Given the description of an element on the screen output the (x, y) to click on. 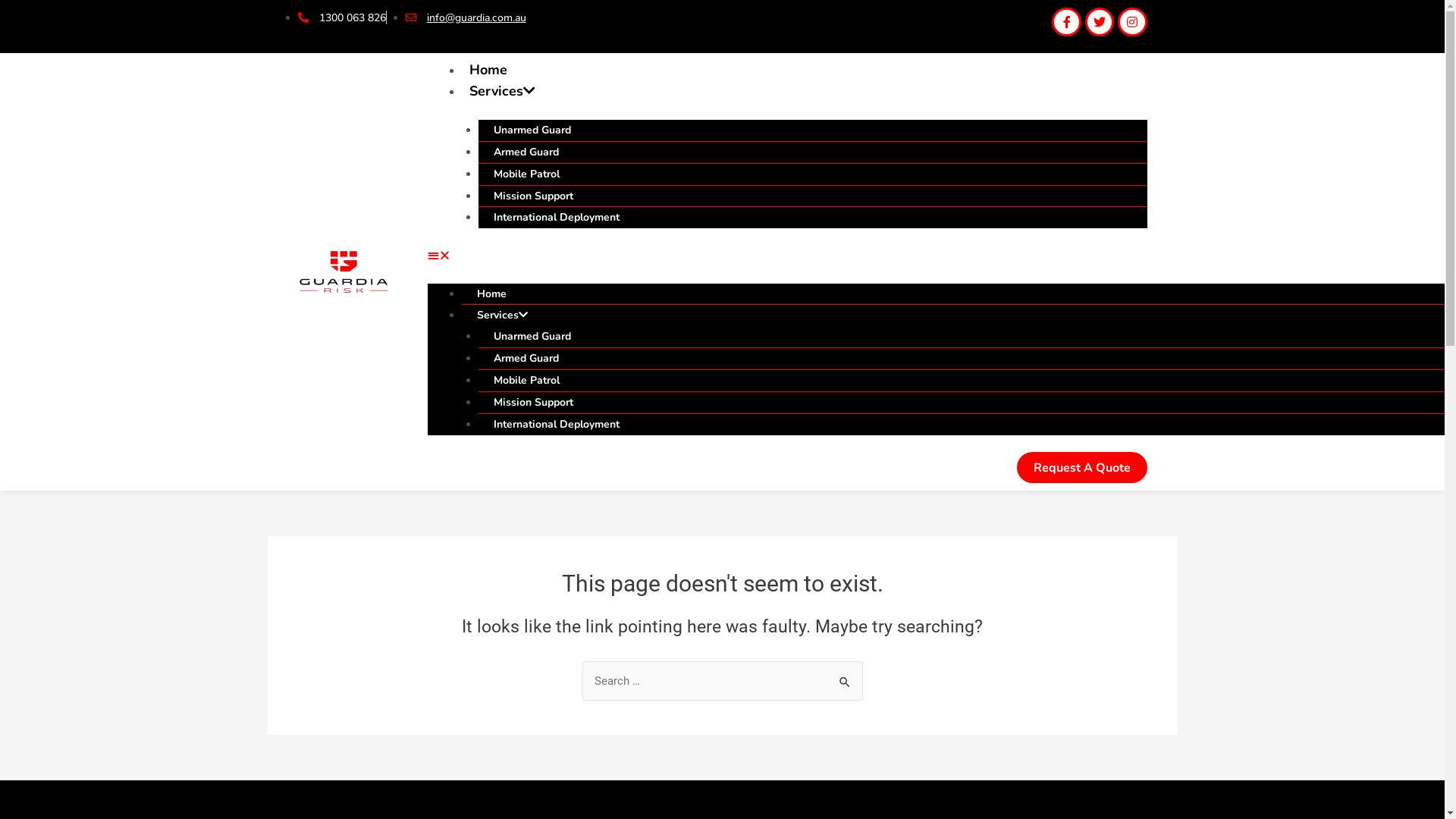
International Deployment Element type: text (556, 424)
info@guardia.com.au Element type: text (464, 17)
Services Element type: text (501, 314)
Home Element type: text (487, 69)
Mission Support Element type: text (533, 402)
Armed Guard Element type: text (526, 358)
Armed Guard Element type: text (526, 151)
Services Element type: text (501, 90)
Home Element type: text (490, 293)
Unarmed Guard Element type: text (532, 336)
Request A Quote Element type: text (1081, 467)
Unarmed Guard Element type: text (532, 129)
International Deployment Element type: text (556, 217)
Search Element type: text (845, 676)
Mobile Patrol Element type: text (526, 173)
Mission Support Element type: text (533, 195)
1300 063 826 Element type: text (341, 17)
Mobile Patrol Element type: text (526, 380)
